Given the description of an element on the screen output the (x, y) to click on. 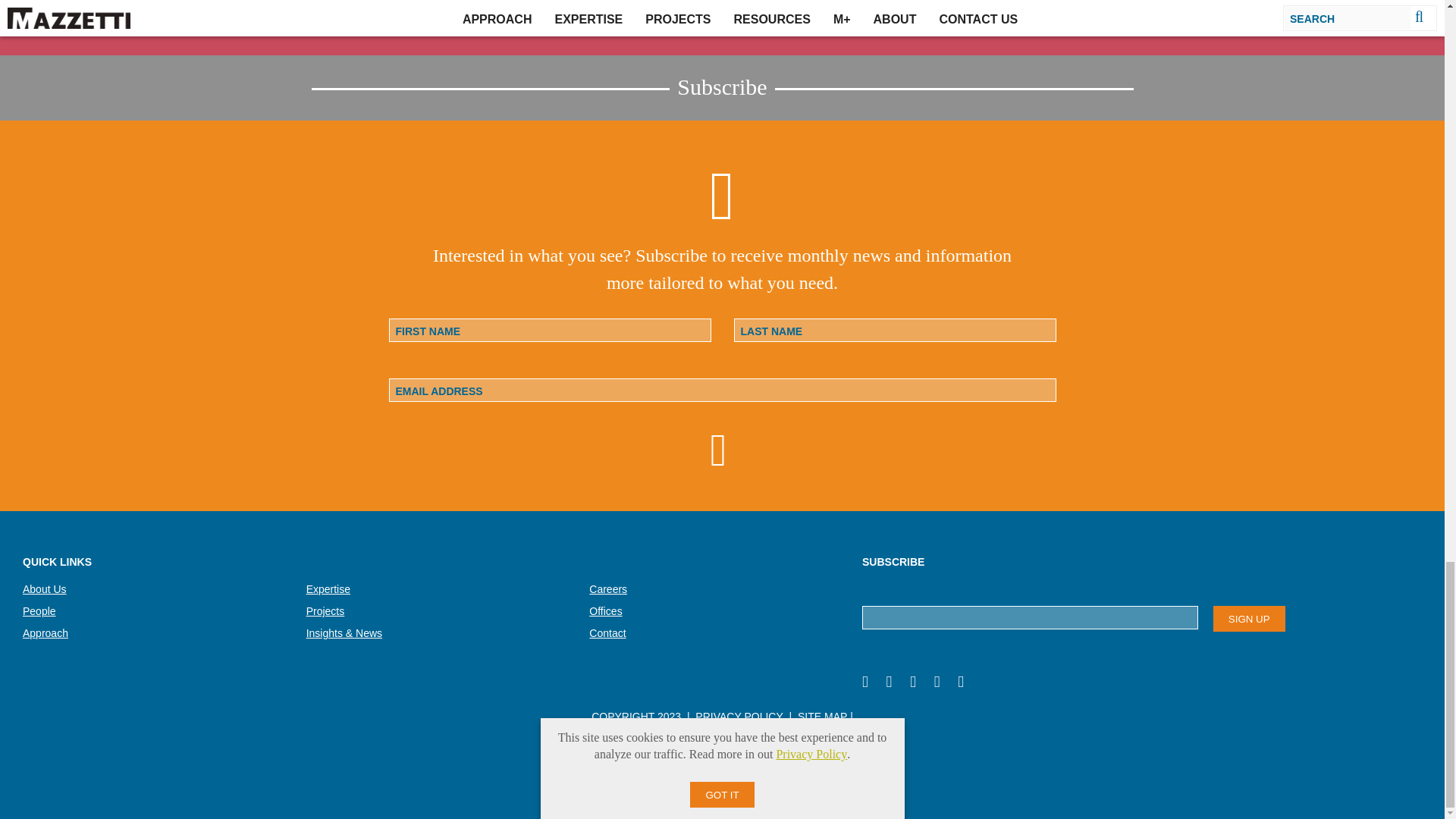
Sign Up (1248, 618)
